Given the description of an element on the screen output the (x, y) to click on. 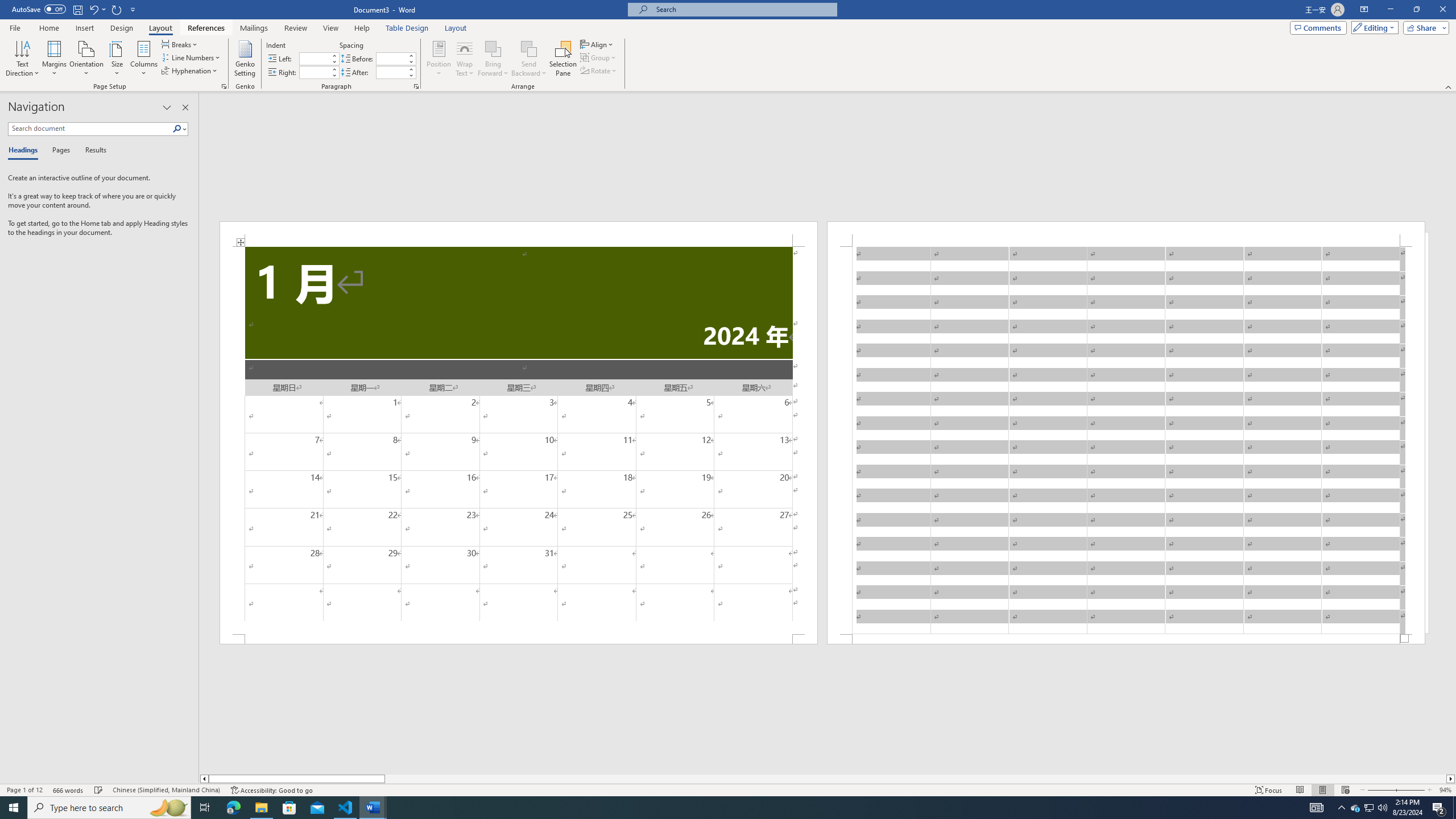
Close (1442, 9)
Quick Access Toolbar (74, 9)
Print Layout (1322, 790)
